Given the description of an element on the screen output the (x, y) to click on. 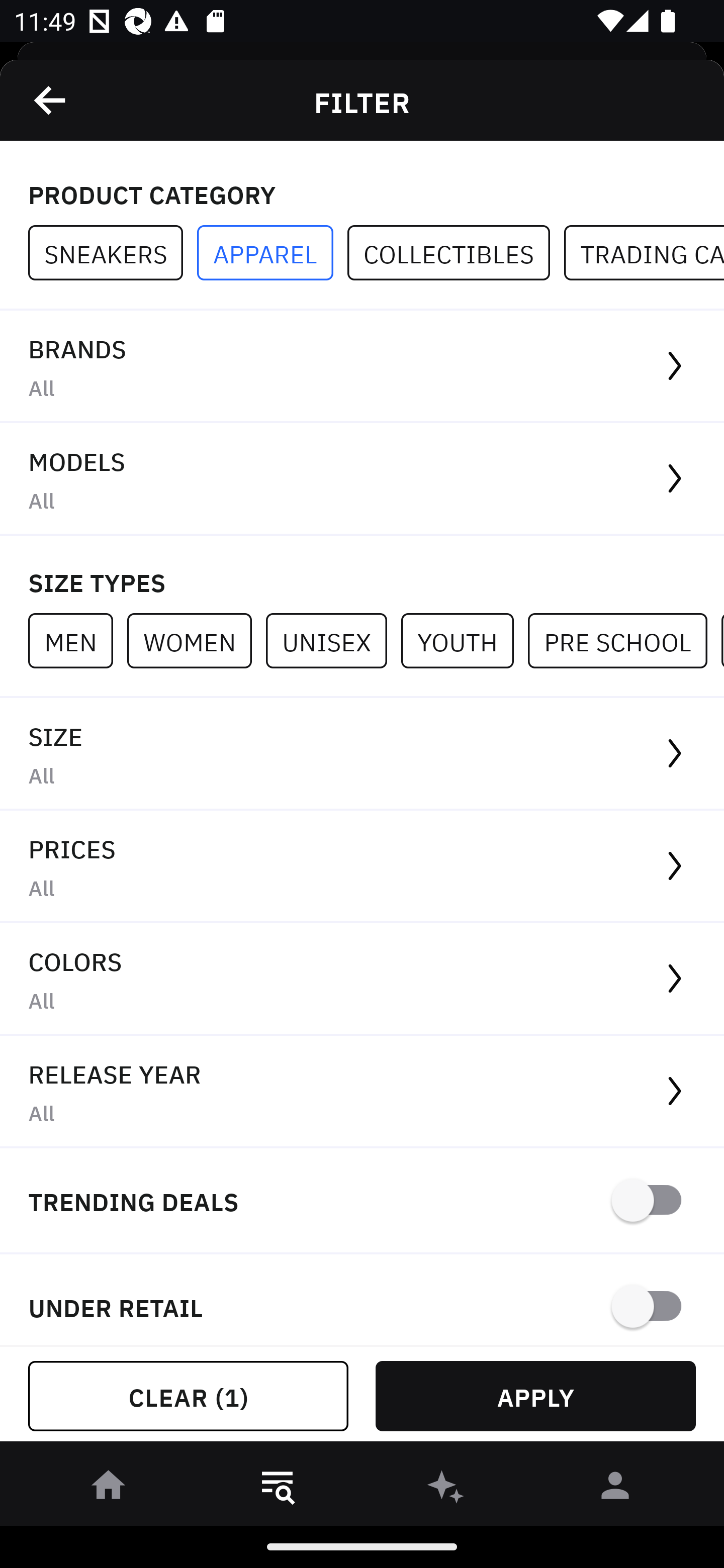
 (50, 100)
SNEAKERS (112, 252)
APPAREL (271, 252)
COLLECTIBLES (455, 252)
TRADING CARDS (643, 252)
BRANDS All (362, 366)
MODELS All (362, 479)
MEN (77, 640)
WOMEN (196, 640)
UNISEX (333, 640)
YOUTH (464, 640)
PRE SCHOOL (624, 640)
SIZE All (362, 753)
PRICES All (362, 866)
COLORS All (362, 979)
RELEASE YEAR All (362, 1091)
TRENDING DEALS (362, 1200)
UNDER RETAIL (362, 1299)
CLEAR (1) (188, 1396)
APPLY (535, 1396)
󰋜 (108, 1488)
󱎸 (277, 1488)
󰫢 (446, 1488)
󰀄 (615, 1488)
